Given the description of an element on the screen output the (x, y) to click on. 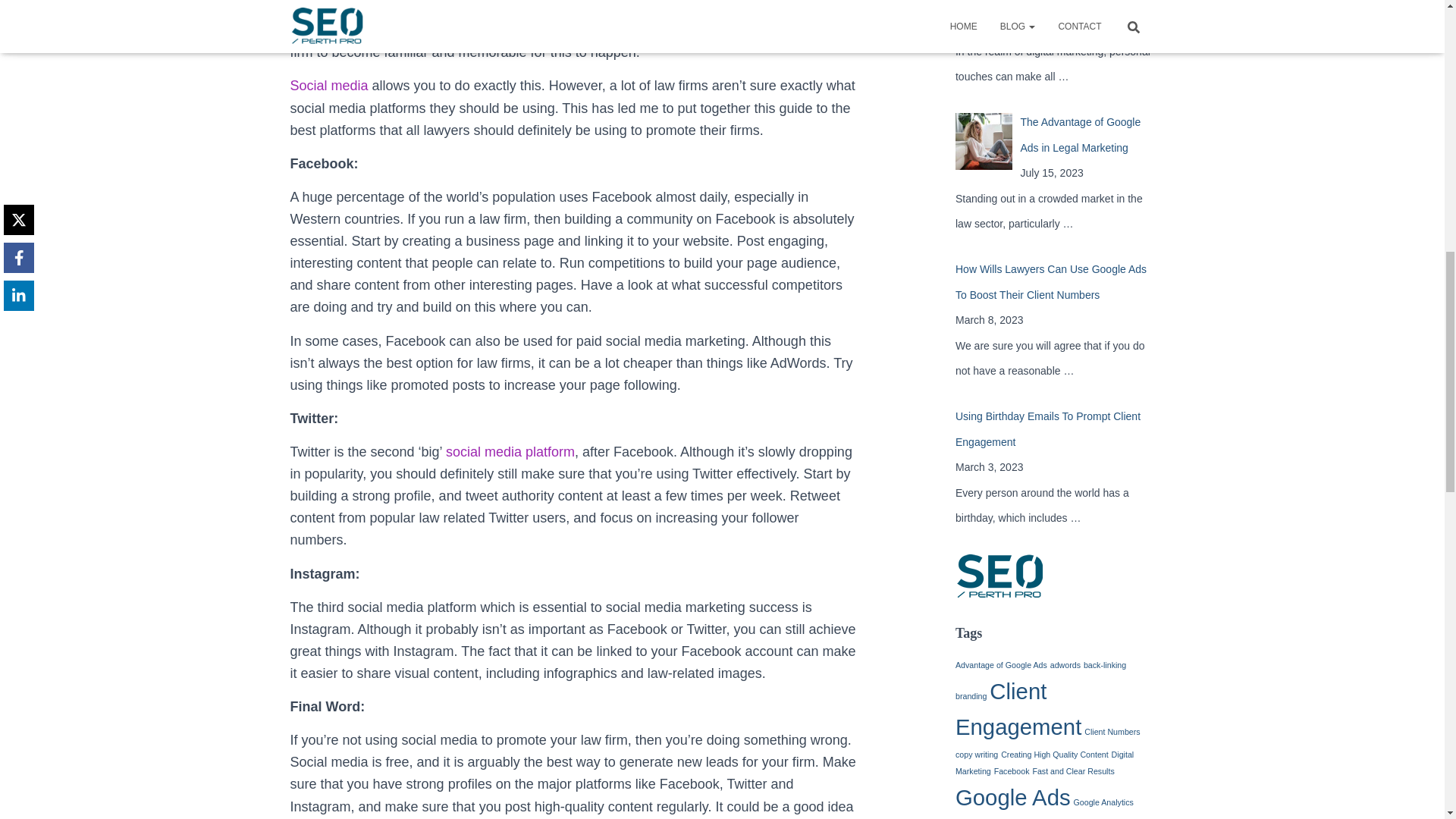
Creating High Quality Content (1054, 754)
Client Engagement (1018, 708)
Advantage of Google Ads (1000, 664)
copy writing (976, 754)
The Advantage of Google Ads in Legal Marketing (1080, 134)
law firm marketing (788, 7)
back-linking (1104, 664)
social media platform (510, 451)
Using Birthday Emails To Prompt Client Engagement (1047, 428)
Client Numbers (1112, 731)
branding (971, 696)
Digital Marketing (1044, 763)
adwords (1064, 664)
